Given the description of an element on the screen output the (x, y) to click on. 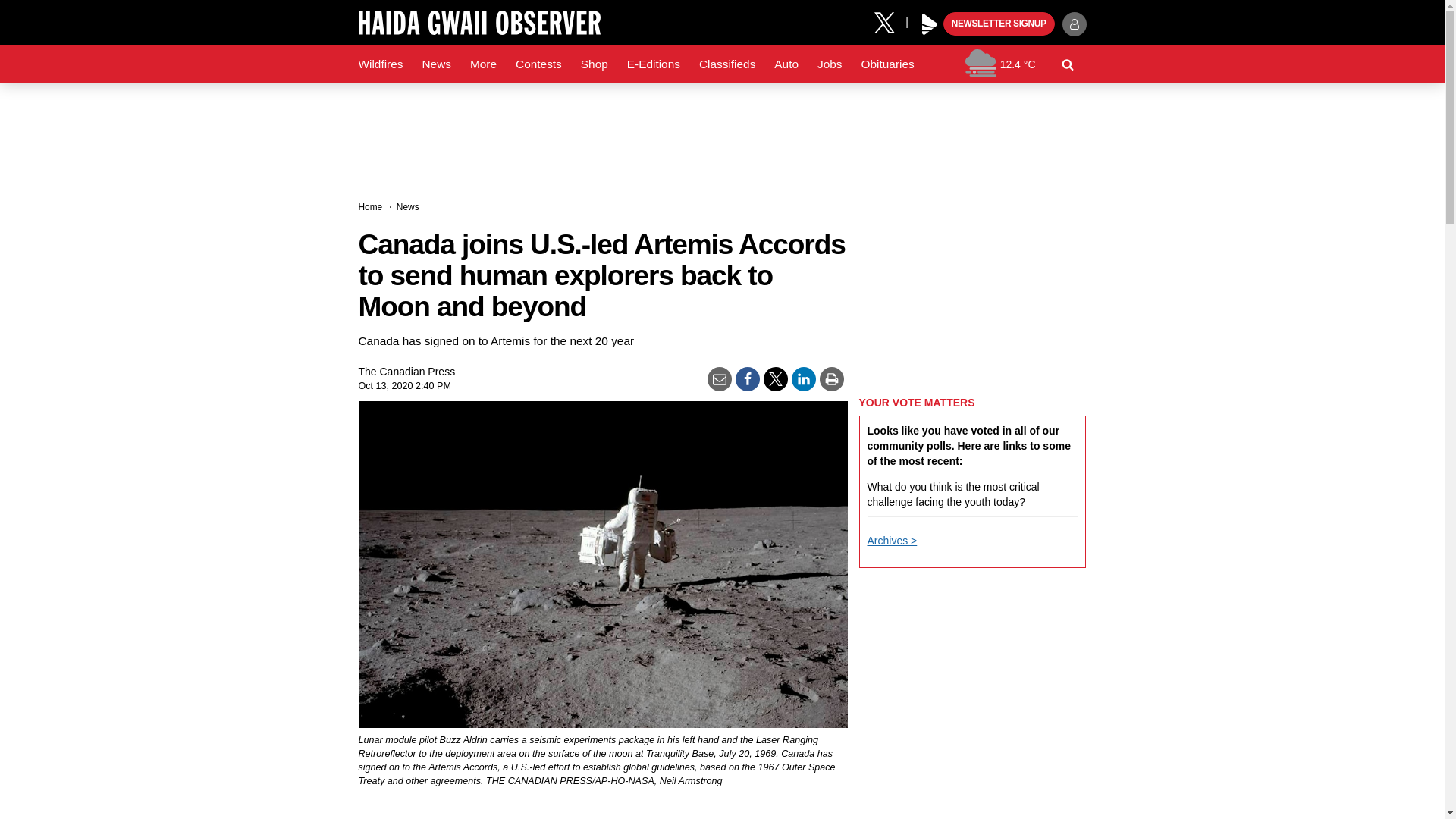
News (435, 64)
X (889, 21)
Play (929, 24)
NEWSLETTER SIGNUP (998, 24)
Black Press Media (929, 24)
Wildfires (380, 64)
